Given the description of an element on the screen output the (x, y) to click on. 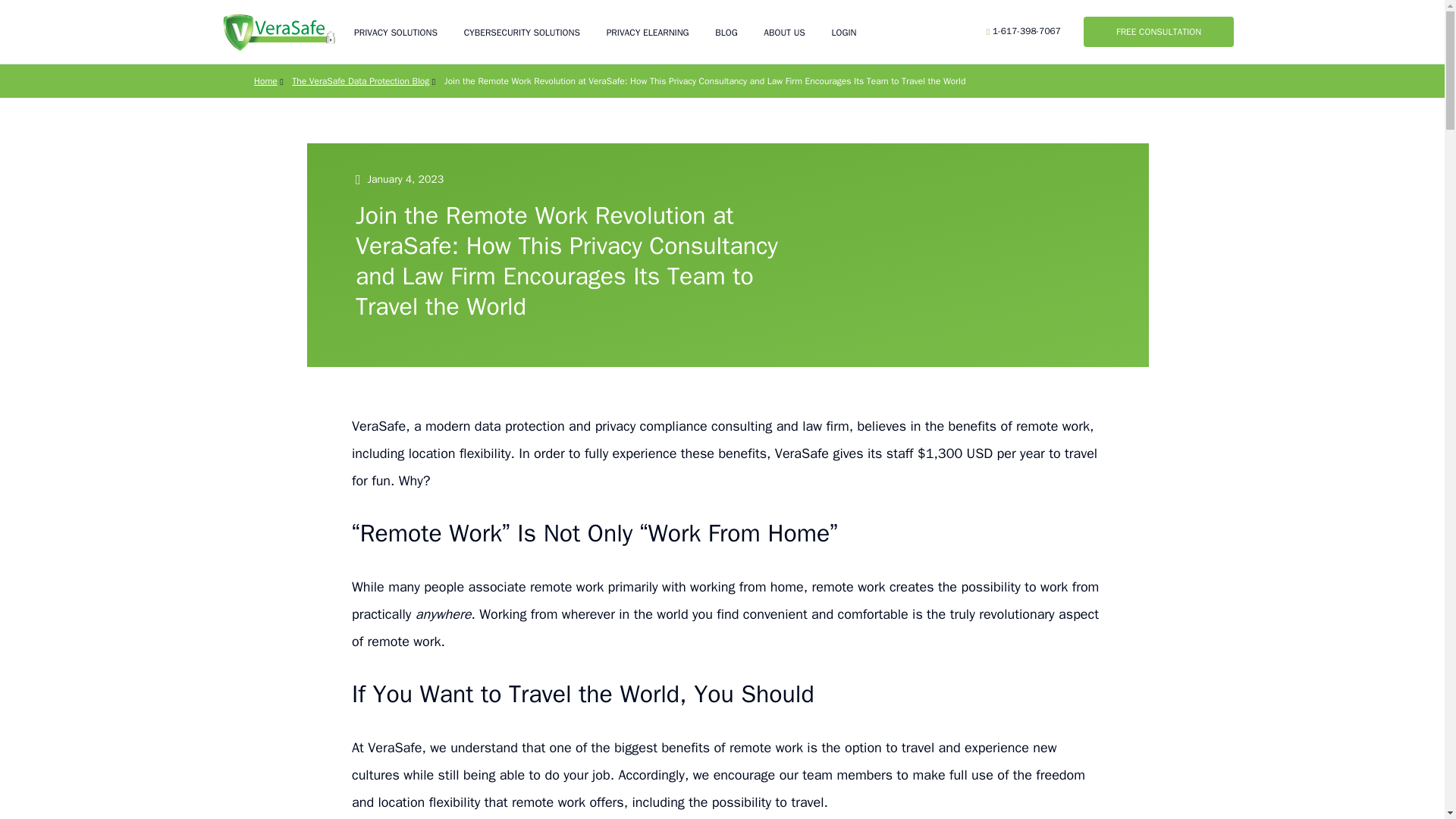
ABOUT US (783, 32)
BLOG (725, 32)
CYBERSECURITY SOLUTIONS (521, 32)
PRIVACY ELEARNING (647, 32)
PRIVACY SOLUTIONS (395, 32)
